Given the description of an element on the screen output the (x, y) to click on. 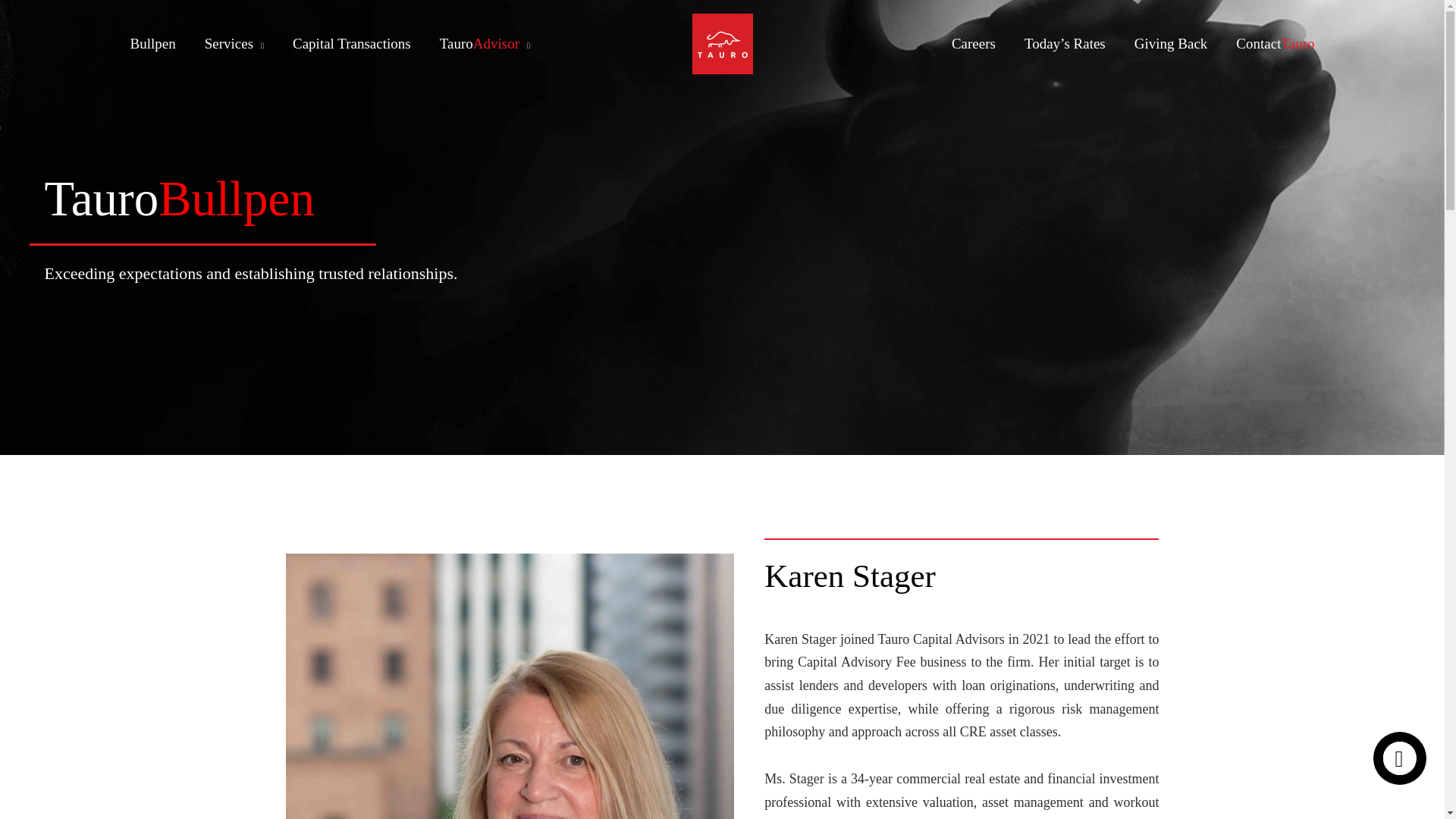
Careers (973, 43)
Giving Back (1171, 43)
TauroAdvisor (484, 43)
Services (234, 43)
ContactTauro (1274, 43)
Bullpen (152, 43)
Capital Transactions (351, 43)
